Given the description of an element on the screen output the (x, y) to click on. 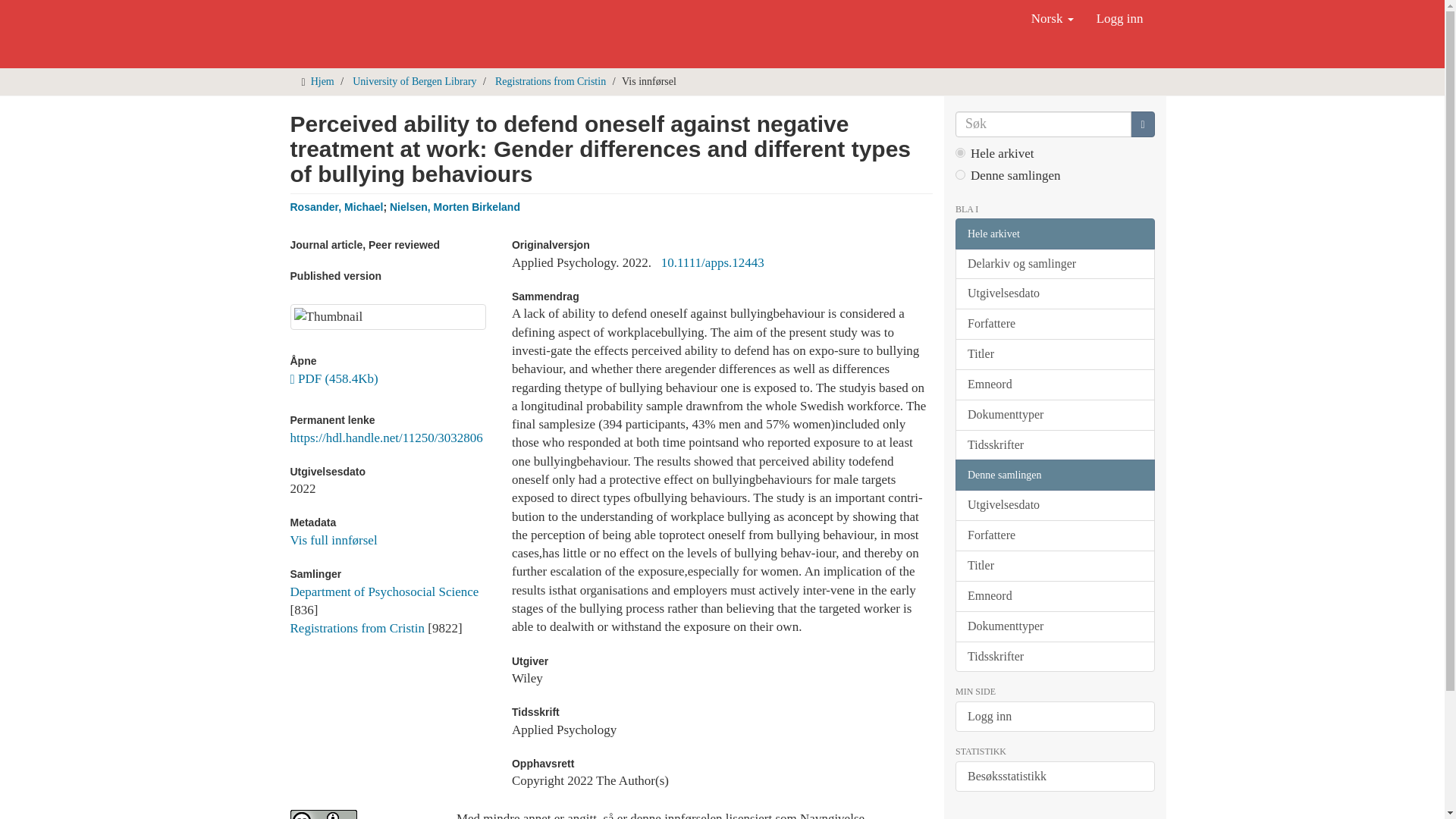
University of Bergen Library (414, 81)
Registrations from Cristin (357, 627)
Logg inn (1119, 18)
Nielsen, Morten Birkeland (454, 206)
Norsk  (1052, 18)
Hele arkivet (1054, 233)
Hjem (322, 81)
Delarkiv og samlinger (1054, 264)
Forfattere (1054, 323)
Navngivelse 4.0 Internasjonal (360, 814)
Registrations from Cristin (550, 81)
Department of Psychosocial Science (384, 591)
Rosander, Michael (335, 206)
Utgivelsesdato (1054, 293)
